Given the description of an element on the screen output the (x, y) to click on. 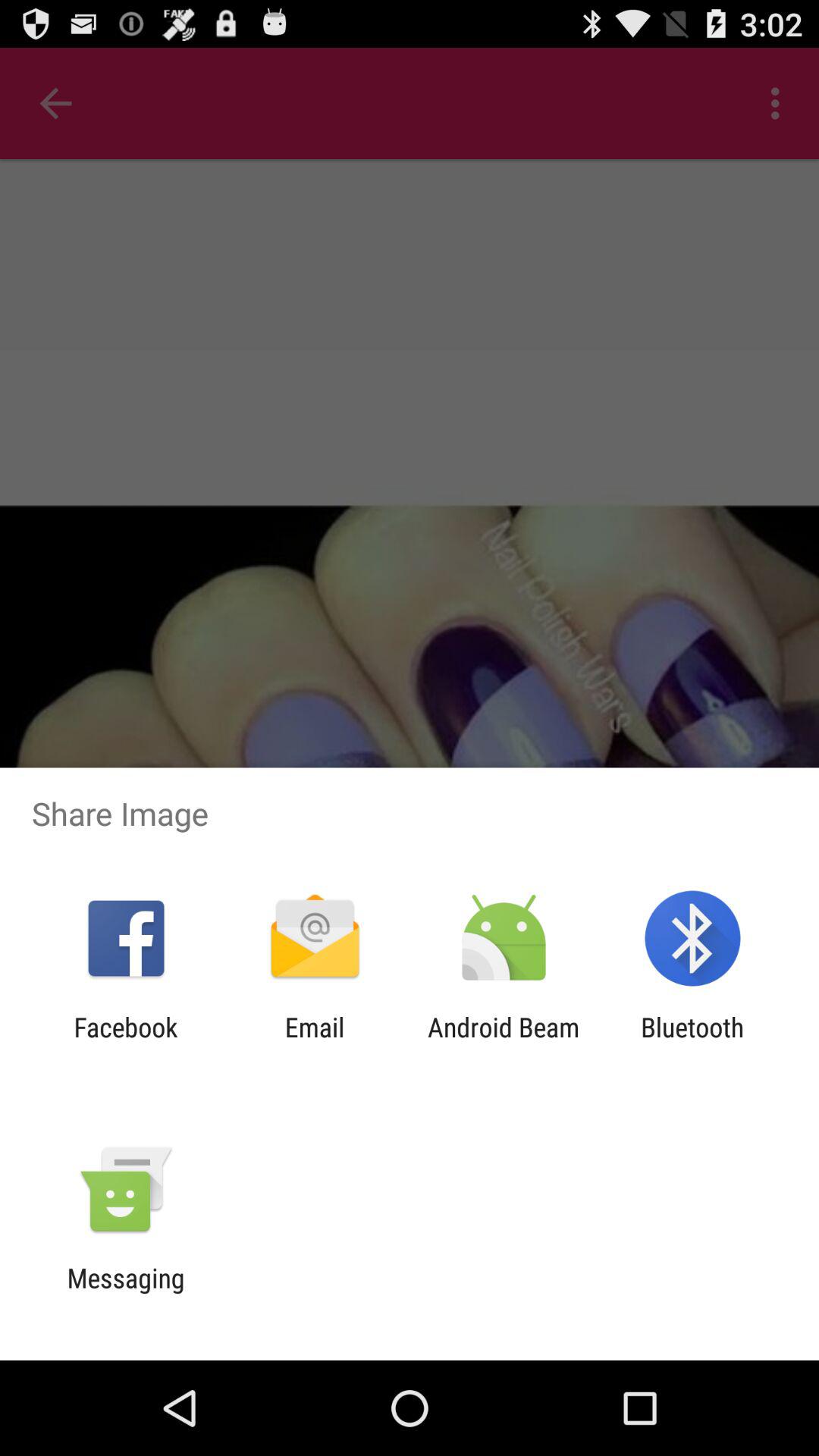
open the item to the right of the facebook (314, 1042)
